Given the description of an element on the screen output the (x, y) to click on. 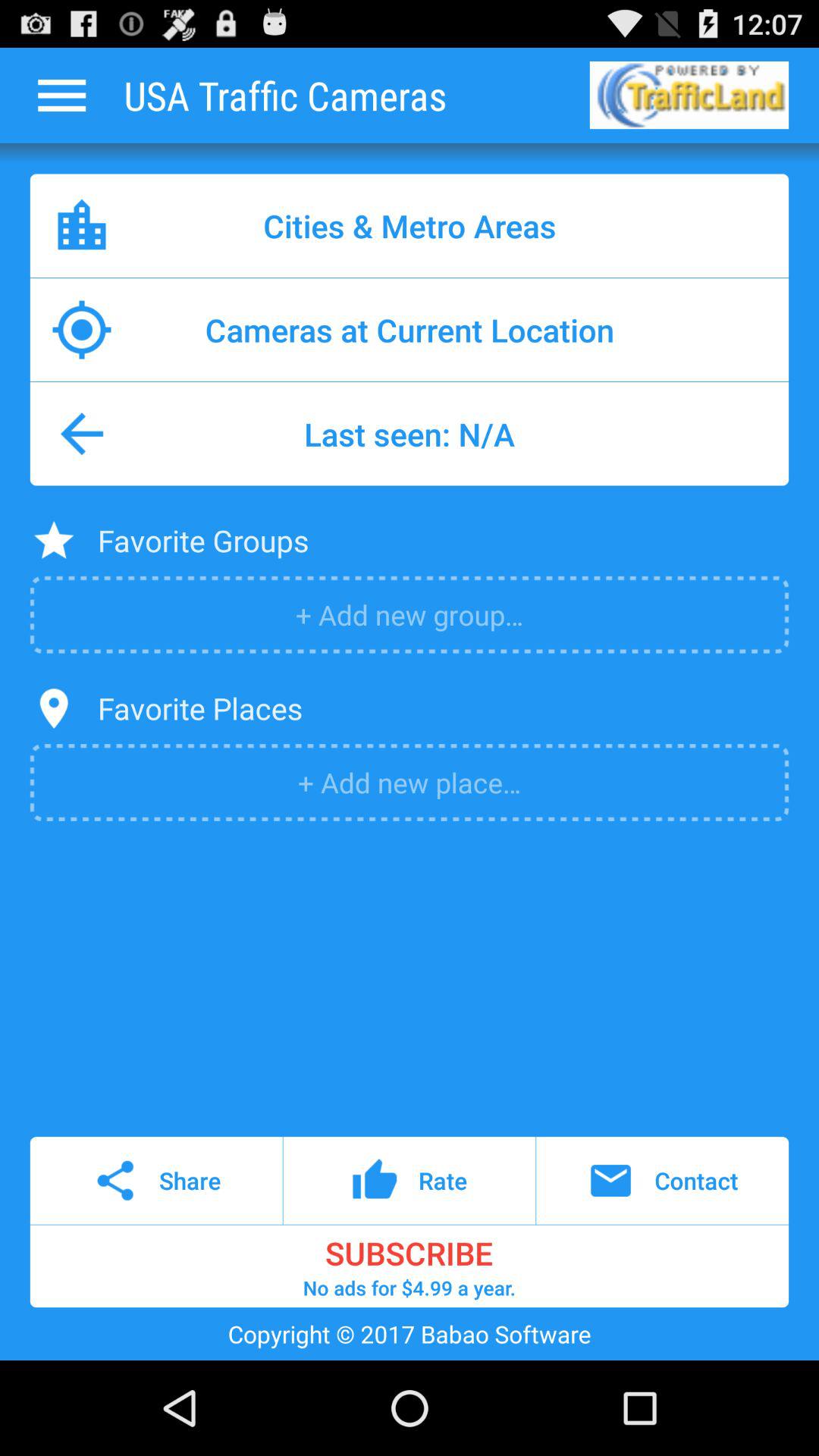
go to previous (61, 95)
